Given the description of an element on the screen output the (x, y) to click on. 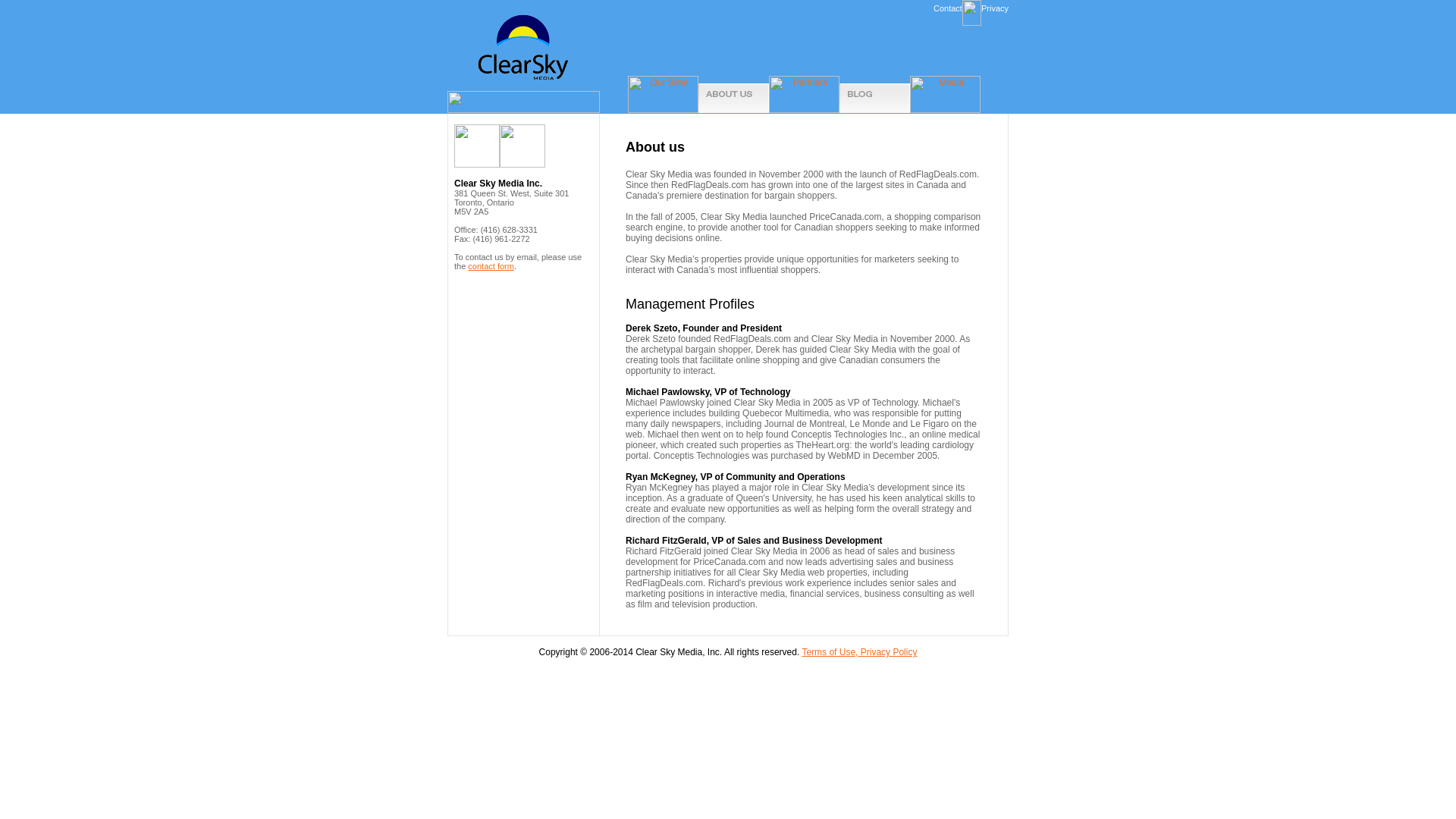
About Us (733, 94)
Partners (804, 94)
Our Sites (662, 94)
contact form (490, 266)
Media (944, 94)
Blog (875, 94)
Terms of Use, Privacy Policy (859, 652)
Privacy (995, 8)
Contact (947, 8)
